Given the description of an element on the screen output the (x, y) to click on. 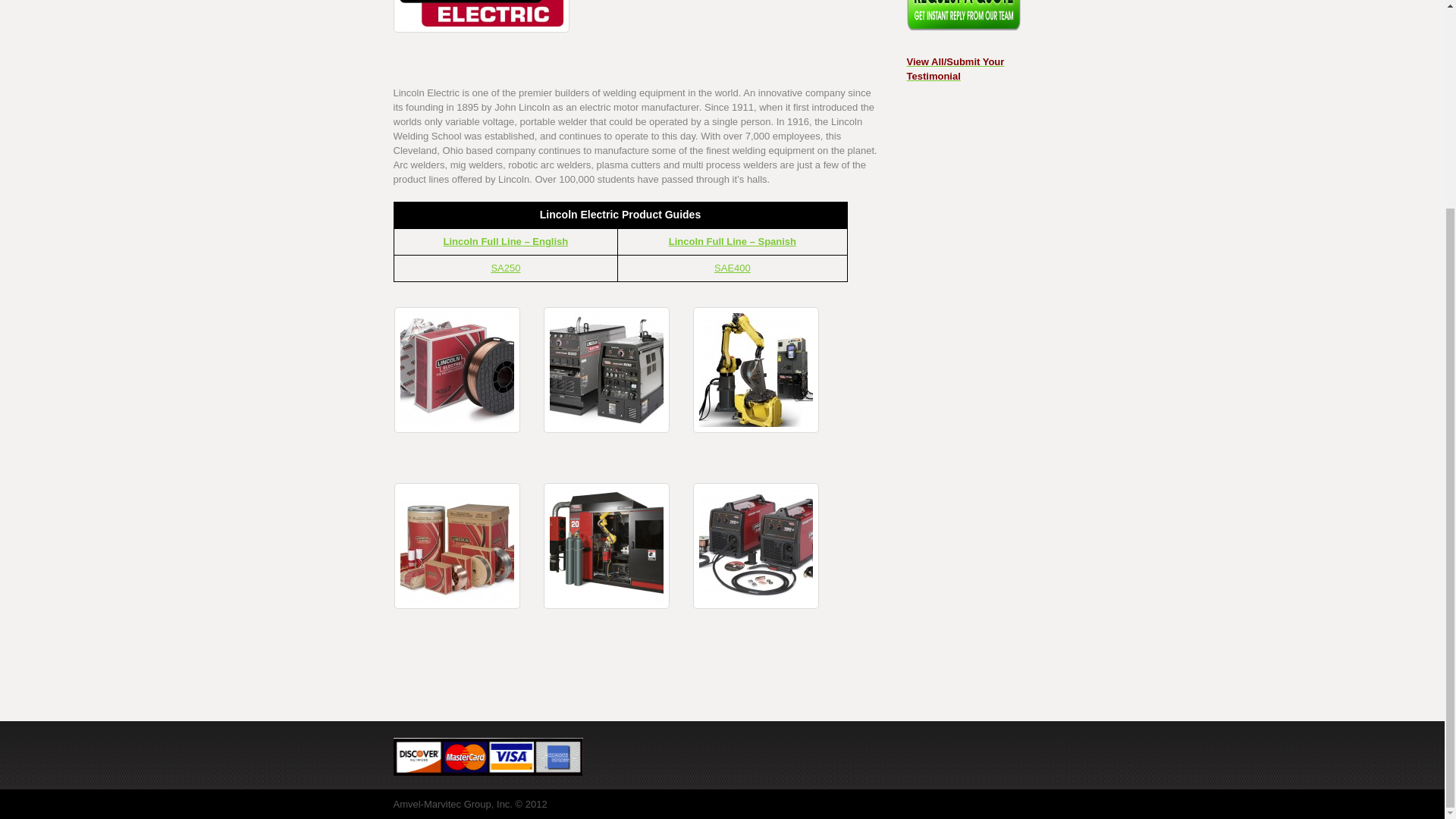
Lincoln's Vantage 500 Engine Drives (606, 370)
Amvel-Marvitec Testimonials (955, 68)
10 lb plastic spool Pipeliner 70S-G MIG wire (456, 370)
00005407 (456, 546)
Lincoln's Power MIG Portable MIG Welders (755, 546)
Lincoln Logo (481, 16)
00005762 (606, 546)
00004547 (755, 370)
SA250 (504, 267)
SAE400 (732, 267)
